Given the description of an element on the screen output the (x, y) to click on. 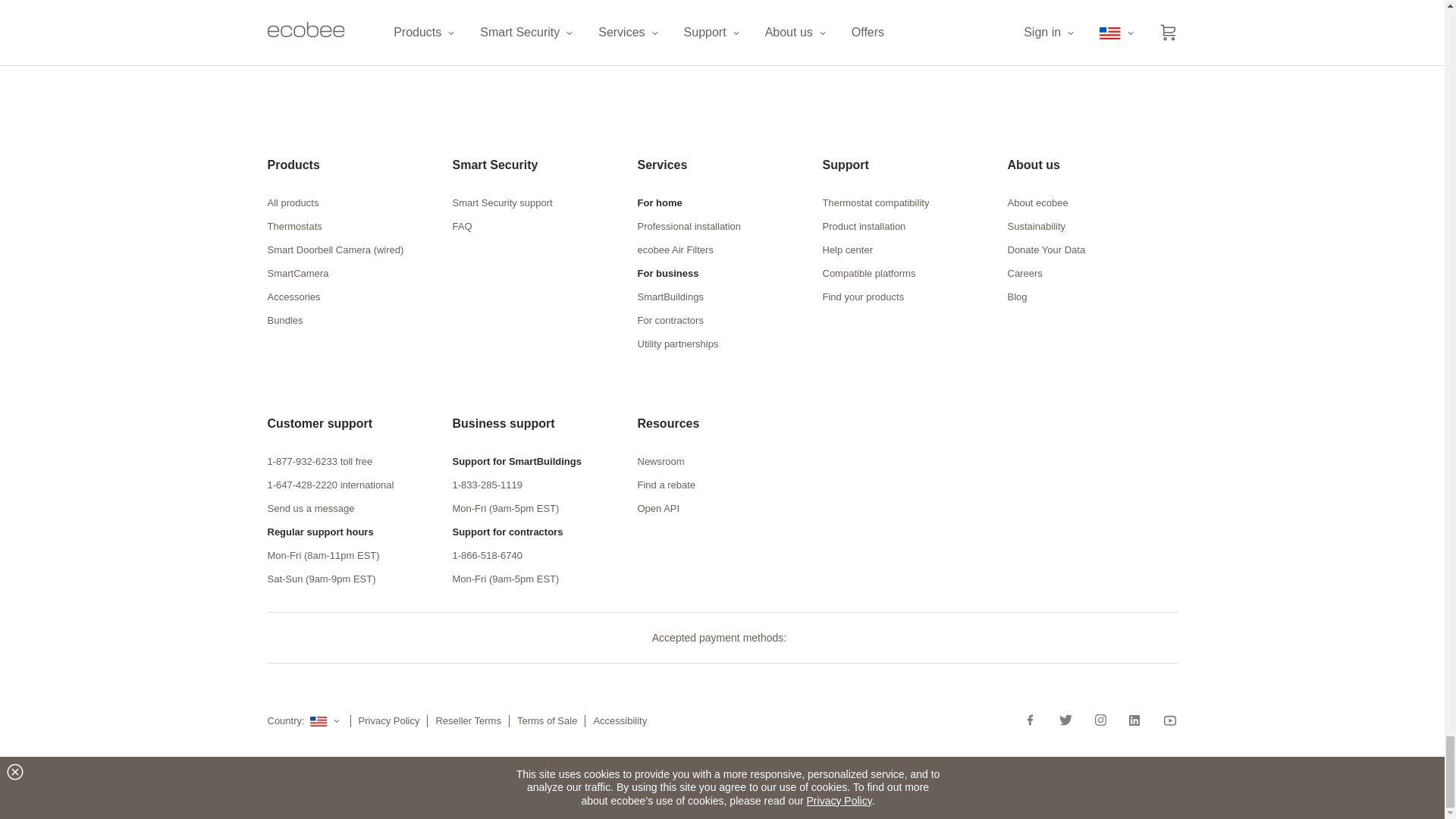
Twitter (1065, 719)
Facebook (1035, 719)
LinkedIn (1134, 719)
YouTube (1164, 719)
Instagram (1099, 719)
